Given the description of an element on the screen output the (x, y) to click on. 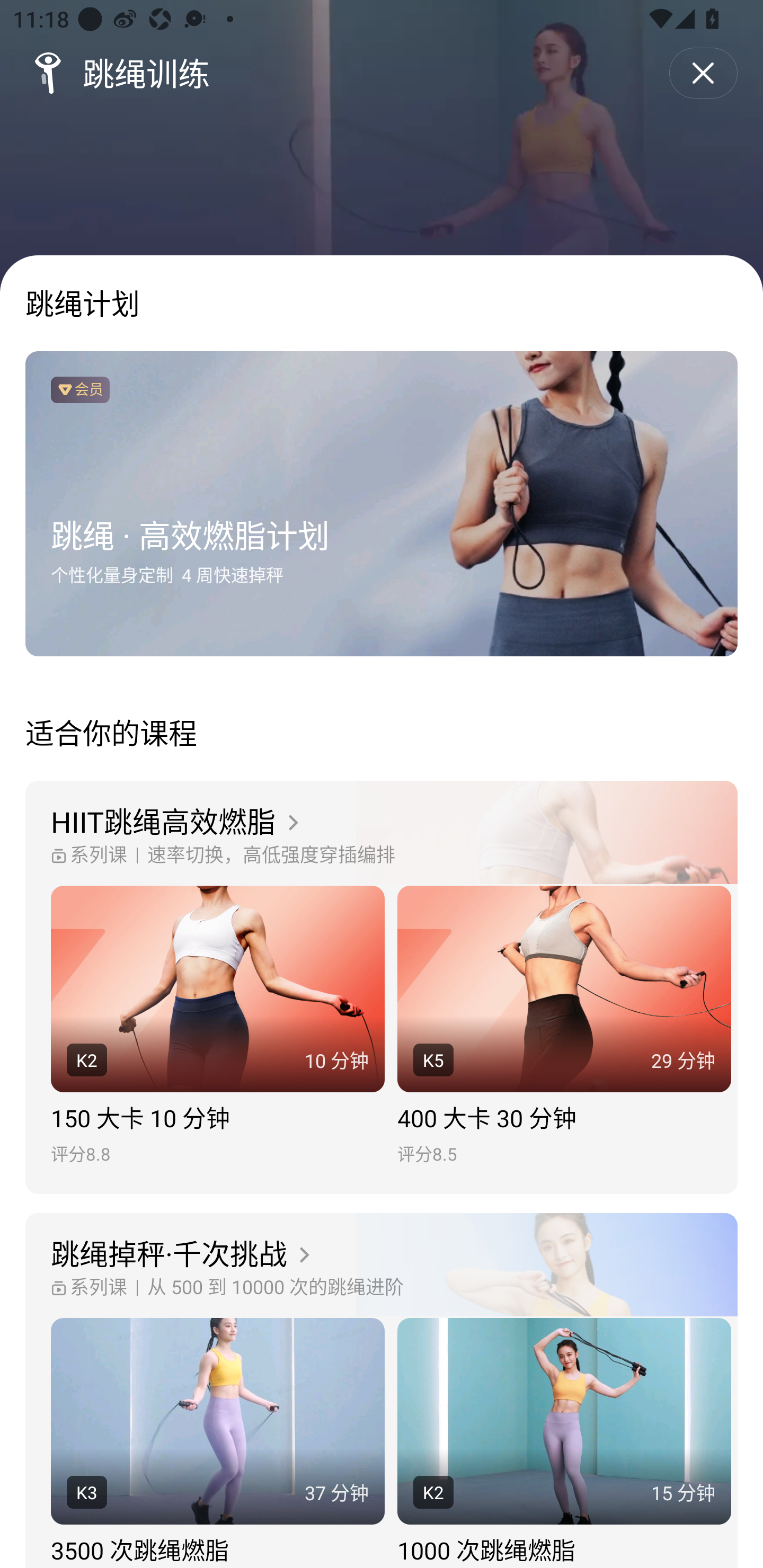
会员 跳绳 · 高效燃脂计划 个性化量身定制  4 周快速掉秤 (381, 503)
HIIT跳绳高效燃脂 系列课 速率切换，高低强度穿插编排 (381, 832)
K2 10 分钟 150 大卡 10 分钟 评分8.8 (217, 1025)
K5 29 分钟 400 大卡 30 分钟 评分8.5 (563, 1025)
跳绳掉秤·千次挑战 系列课 从 500 到 10000 次的跳绳进阶 (381, 1265)
K3 37 分钟 3500 次跳绳燃脂 (217, 1443)
K2 15 分钟 1000 次跳绳燃脂 (563, 1443)
